Given the description of an element on the screen output the (x, y) to click on. 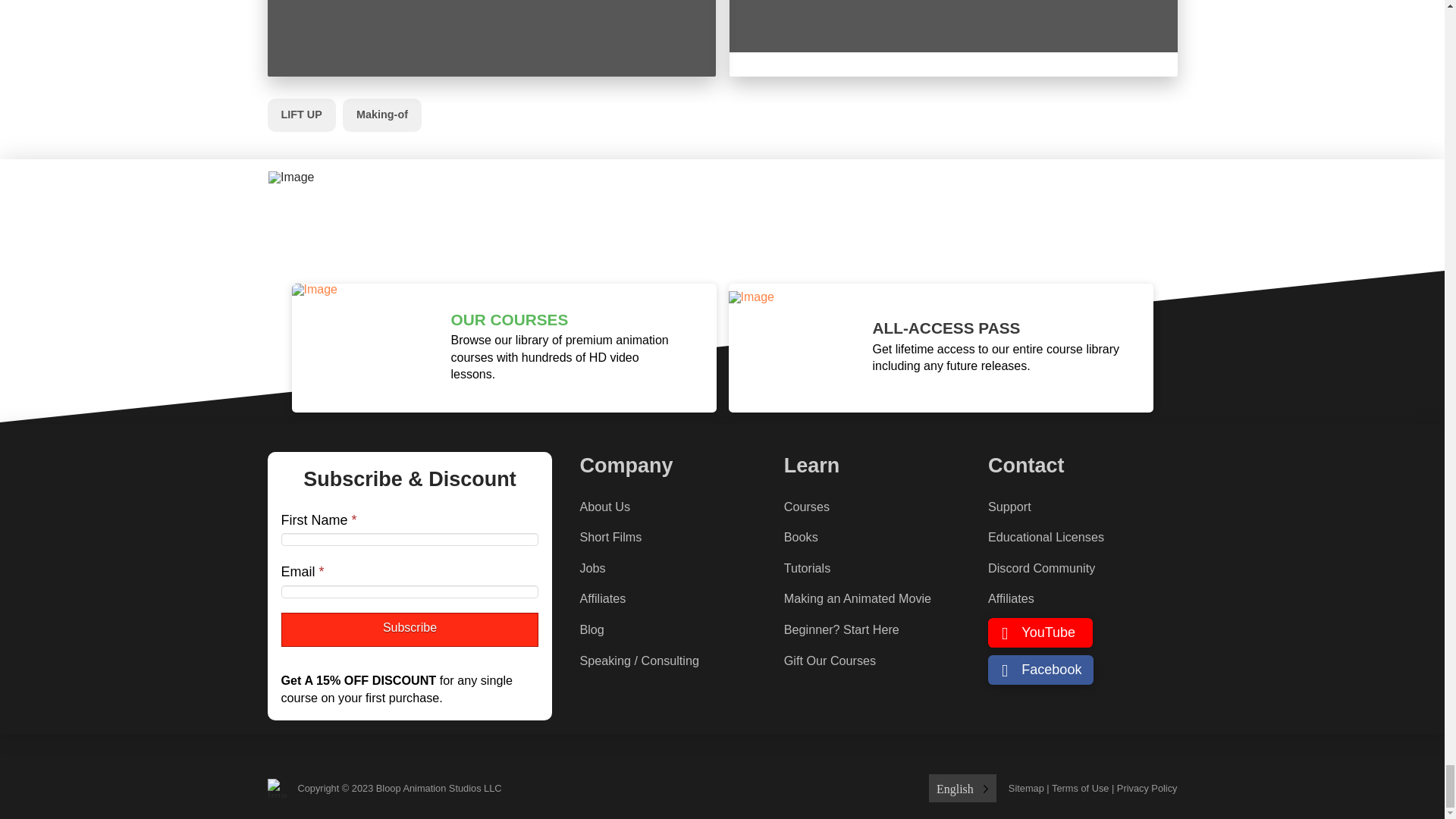
About Us (604, 506)
Books (801, 536)
Subscribe (409, 629)
LIFT UP (300, 114)
Affiliates (602, 598)
Courses (806, 506)
5 TV Shows Using Toon Boom Harmony (953, 38)
6 Stick Figure Animators You Should Know (490, 38)
Making-of (382, 114)
Jobs (592, 567)
Short Films (610, 536)
Blog (591, 629)
